Given the description of an element on the screen output the (x, y) to click on. 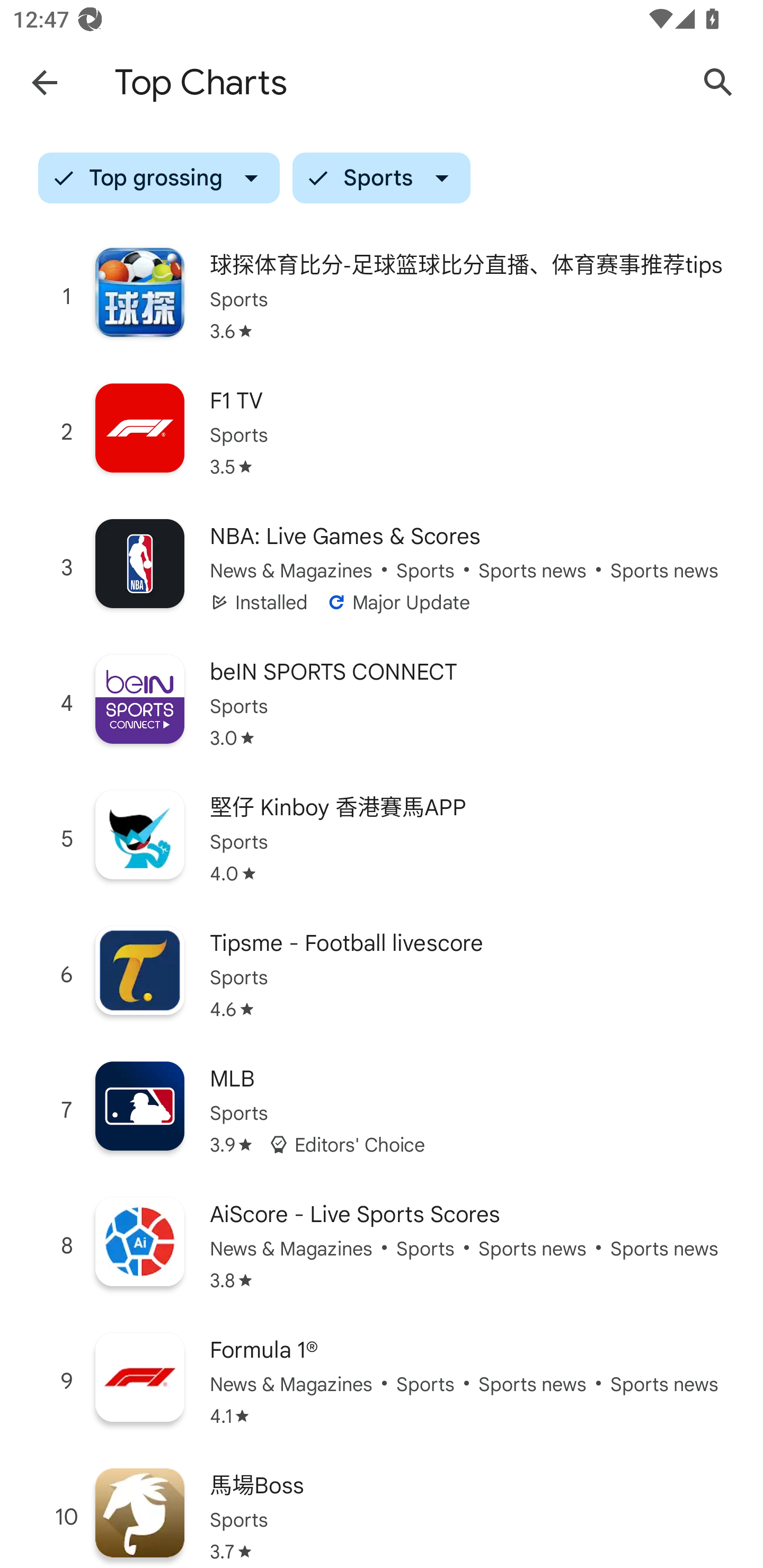
Navigate up (44, 81)
Search Google Play (718, 81)
2 F1 TV
Sports
Star rating: 3.5
 (381, 431)
4 beIN SPORTS CONNECT
Sports
Star rating: 3.0
 (381, 703)
5 堅仔 Kinboy 香港賽馬APP
Sports
Star rating: 4.0
 (381, 838)
7 MLB
Sports
Star rating: 3.9
Editors' Choice
 (381, 1109)
10 馬場Boss
Sports
Star rating: 3.7
 (381, 1508)
